Given the description of an element on the screen output the (x, y) to click on. 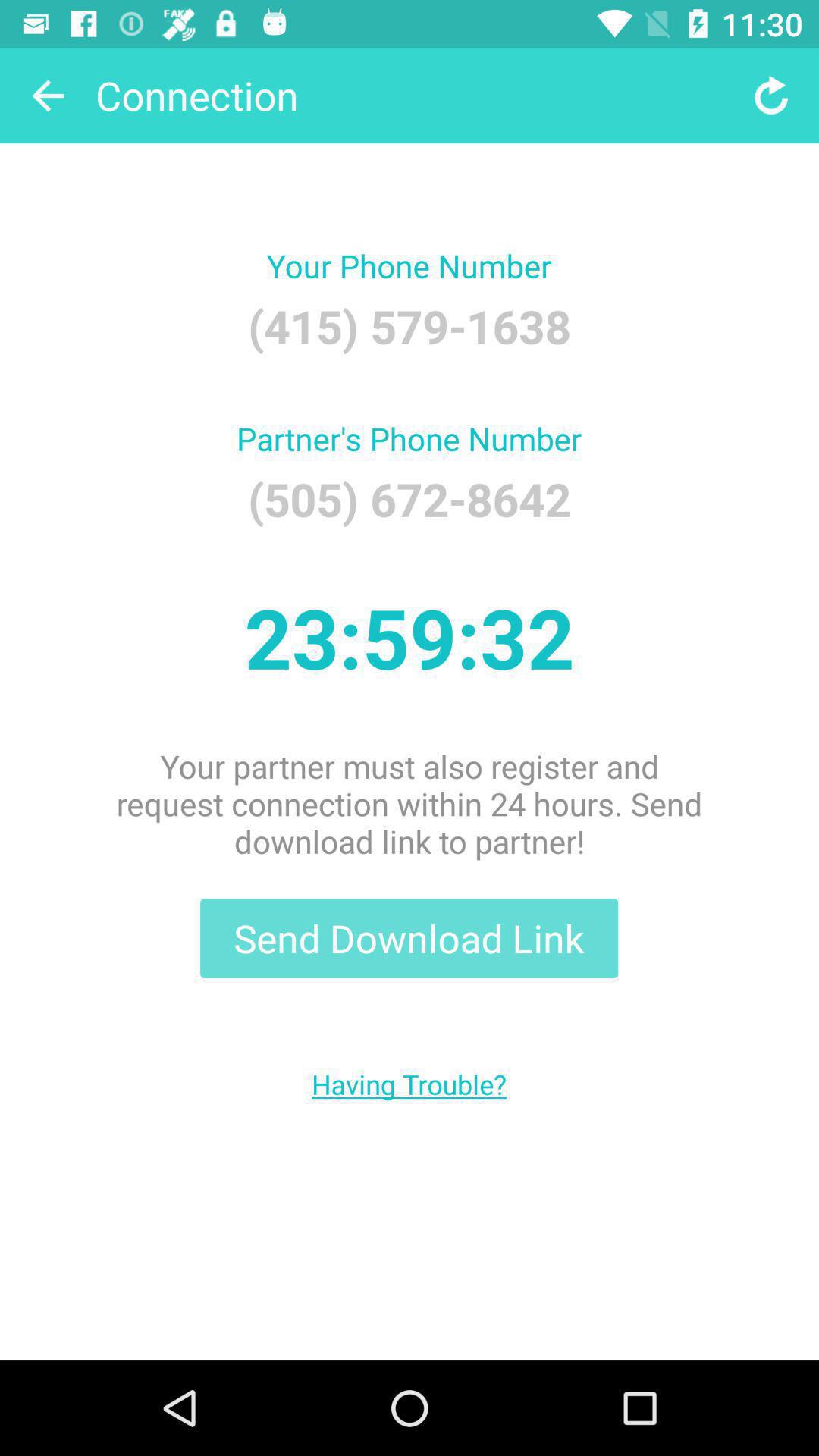
press the item next to connection (47, 95)
